Given the description of an element on the screen output the (x, y) to click on. 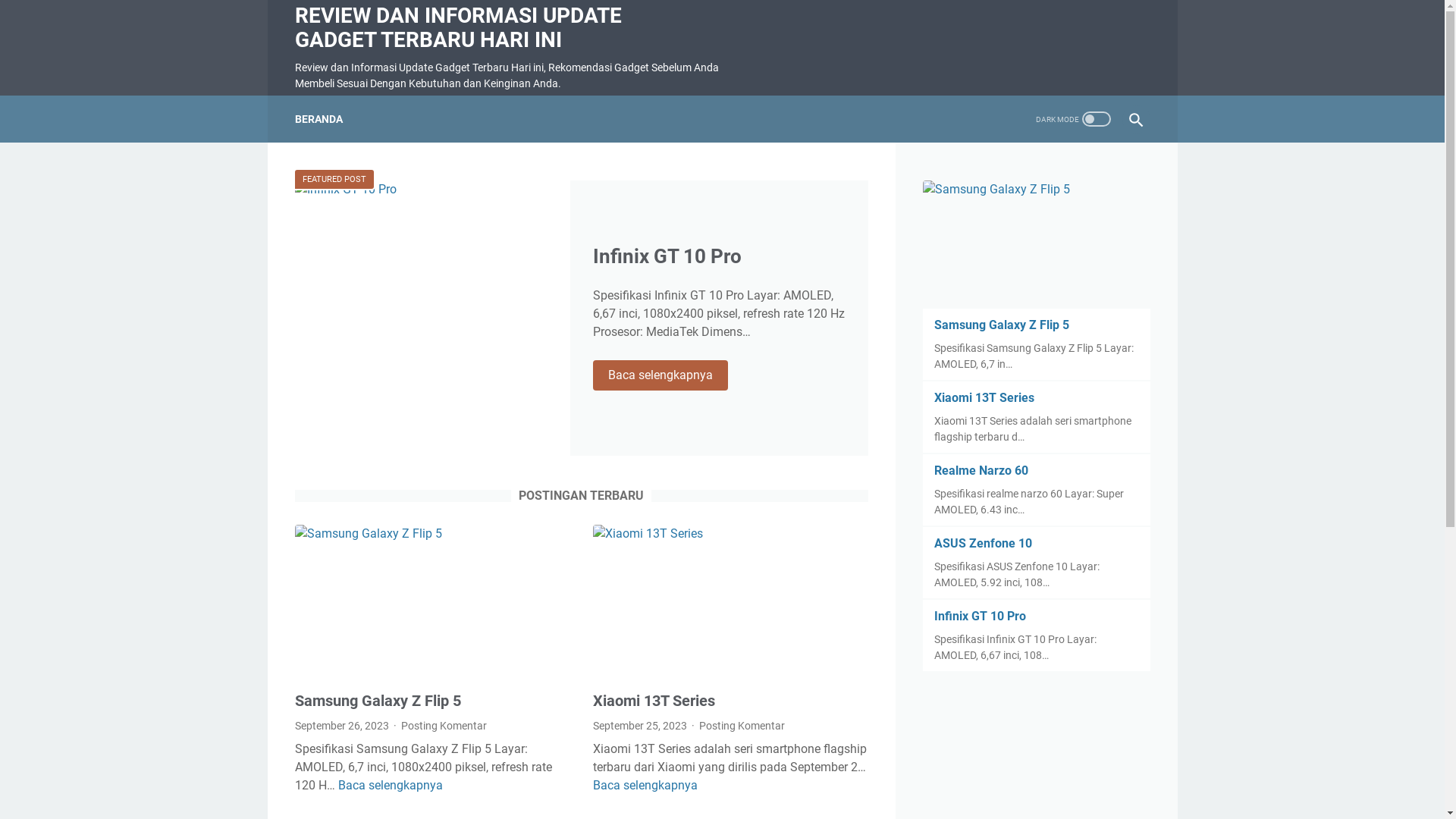
Posting Komentar Element type: text (741, 725)
Samsung Galaxy Z Flip 5 Element type: hover (431, 601)
Xiaomi 13T Series Element type: text (984, 397)
Posting Komentar Element type: text (443, 725)
Baca selengkapnya Element type: text (390, 785)
Samsung Galaxy Z Flip 5 Element type: text (1001, 324)
Xiaomi 13T Series Element type: hover (730, 601)
BERANDA Element type: text (318, 118)
Samsung Galaxy Z Flip 5 Element type: text (377, 700)
Baca selengkapnya Element type: text (645, 785)
Baca selengkapnya Element type: text (660, 375)
ASUS Zenfone 10 Element type: text (983, 543)
Xiaomi 13T Series Element type: text (654, 700)
Realme Narzo 60 Element type: text (981, 470)
REVIEW DAN INFORMASI UPDATE GADGET TERBARU HARI INI Element type: text (457, 27)
Infinix GT 10 Pro Element type: text (667, 255)
Infinix GT 10 Pro Element type: text (980, 615)
